Given the description of an element on the screen output the (x, y) to click on. 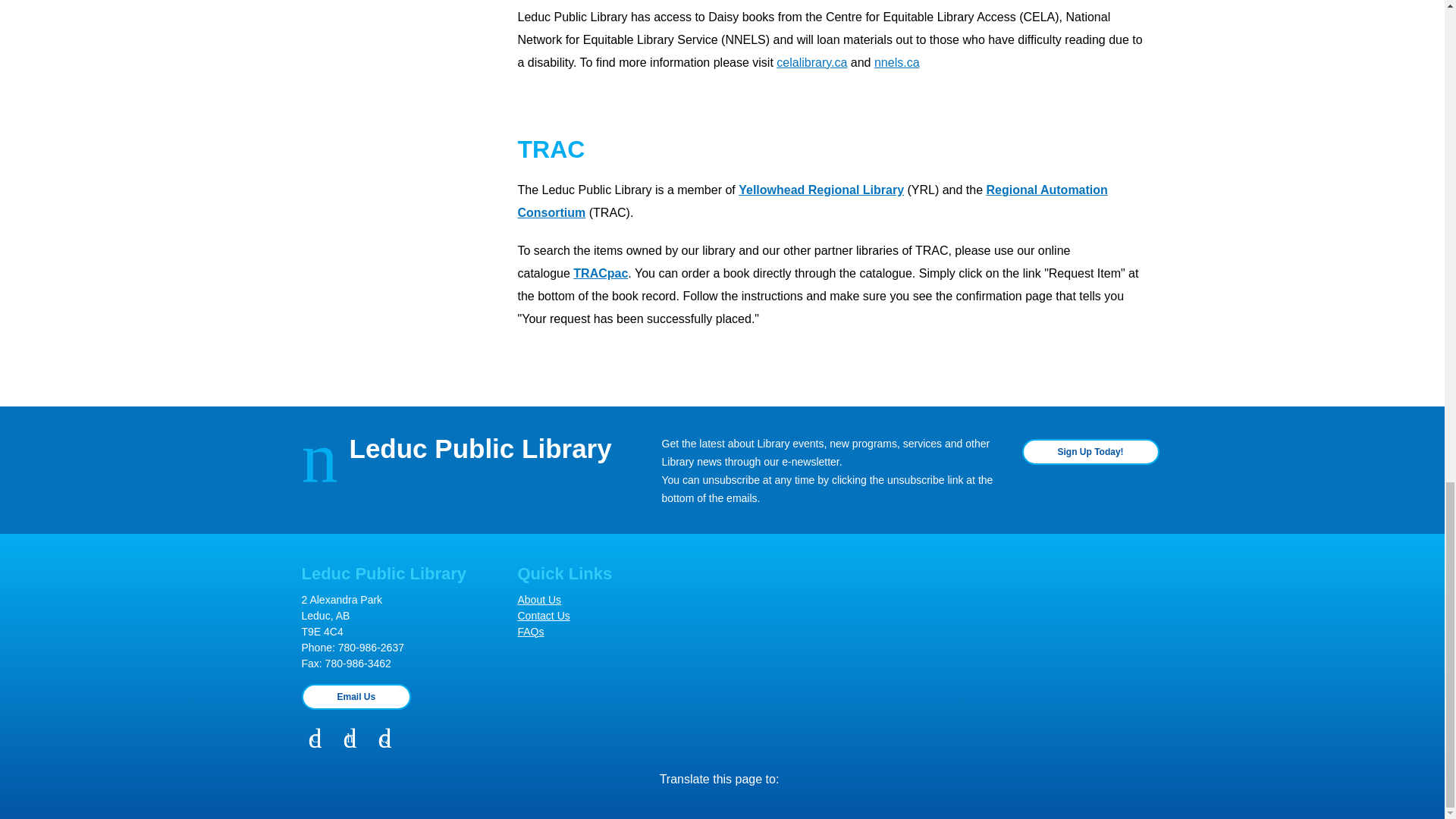
Instagram (350, 738)
Youtube (384, 738)
Facebook (315, 738)
